Given the description of an element on the screen output the (x, y) to click on. 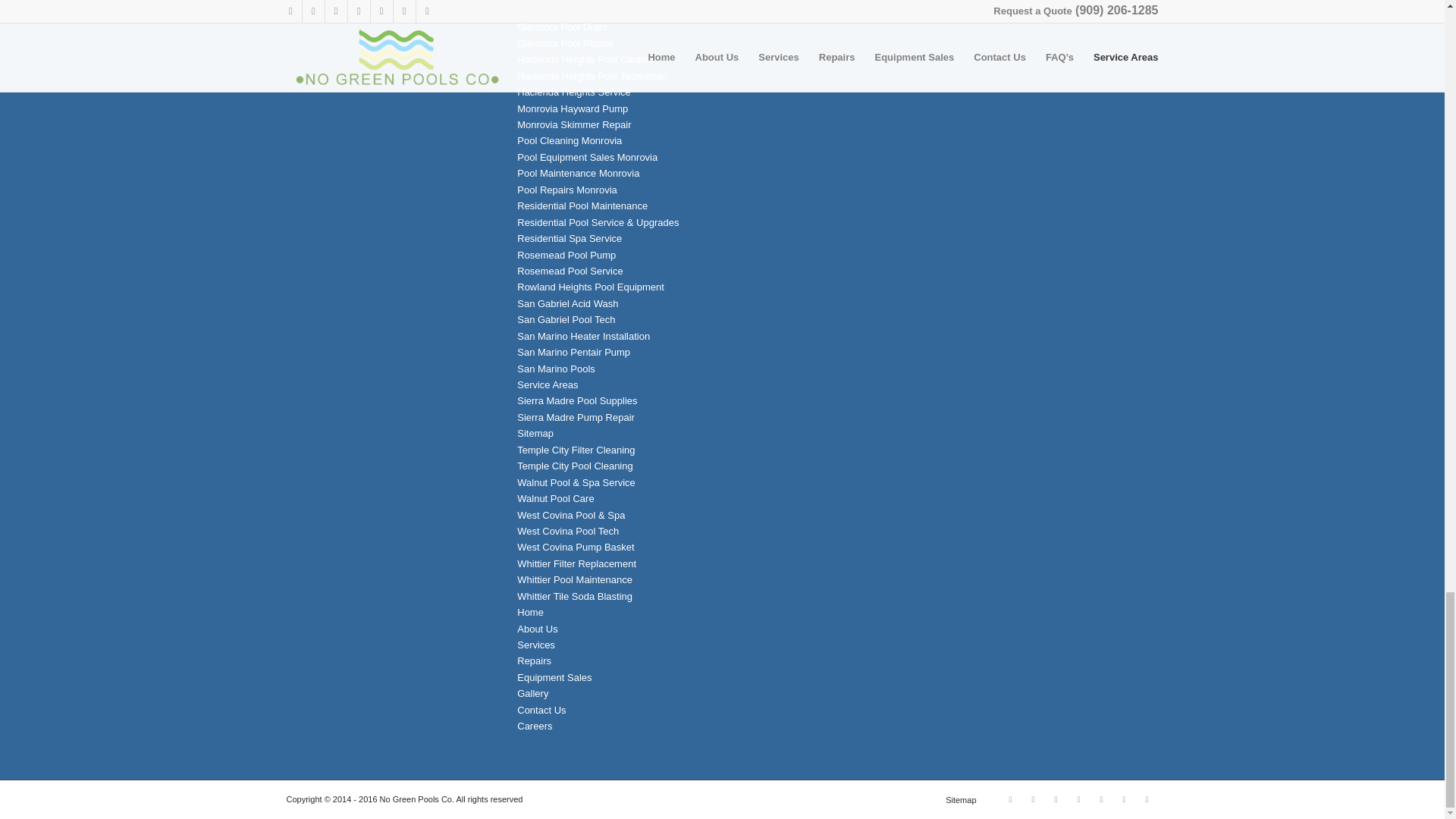
Mail (1124, 798)
Twitter (1033, 798)
Linkedin (1101, 798)
Gplus (1056, 798)
Youtube (1078, 798)
Rss (1146, 798)
Facebook (1010, 798)
